Given the description of an element on the screen output the (x, y) to click on. 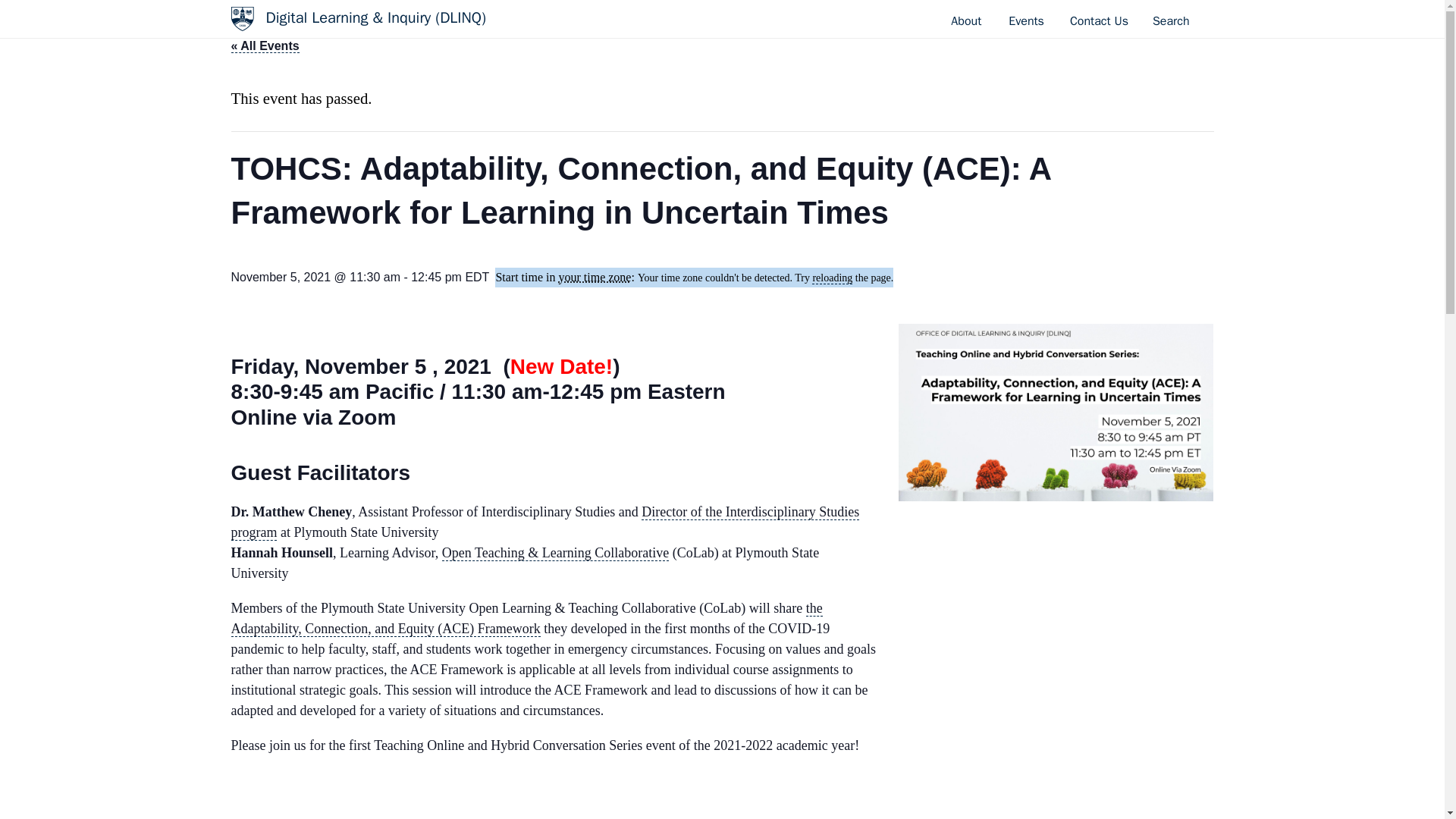
reloading (831, 277)
Contact Us (1098, 20)
Events (1026, 21)
Search (1170, 20)
Events (1026, 21)
About (965, 21)
Director of the Interdisciplinary Studies program (544, 522)
About (965, 21)
